Given the description of an element on the screen output the (x, y) to click on. 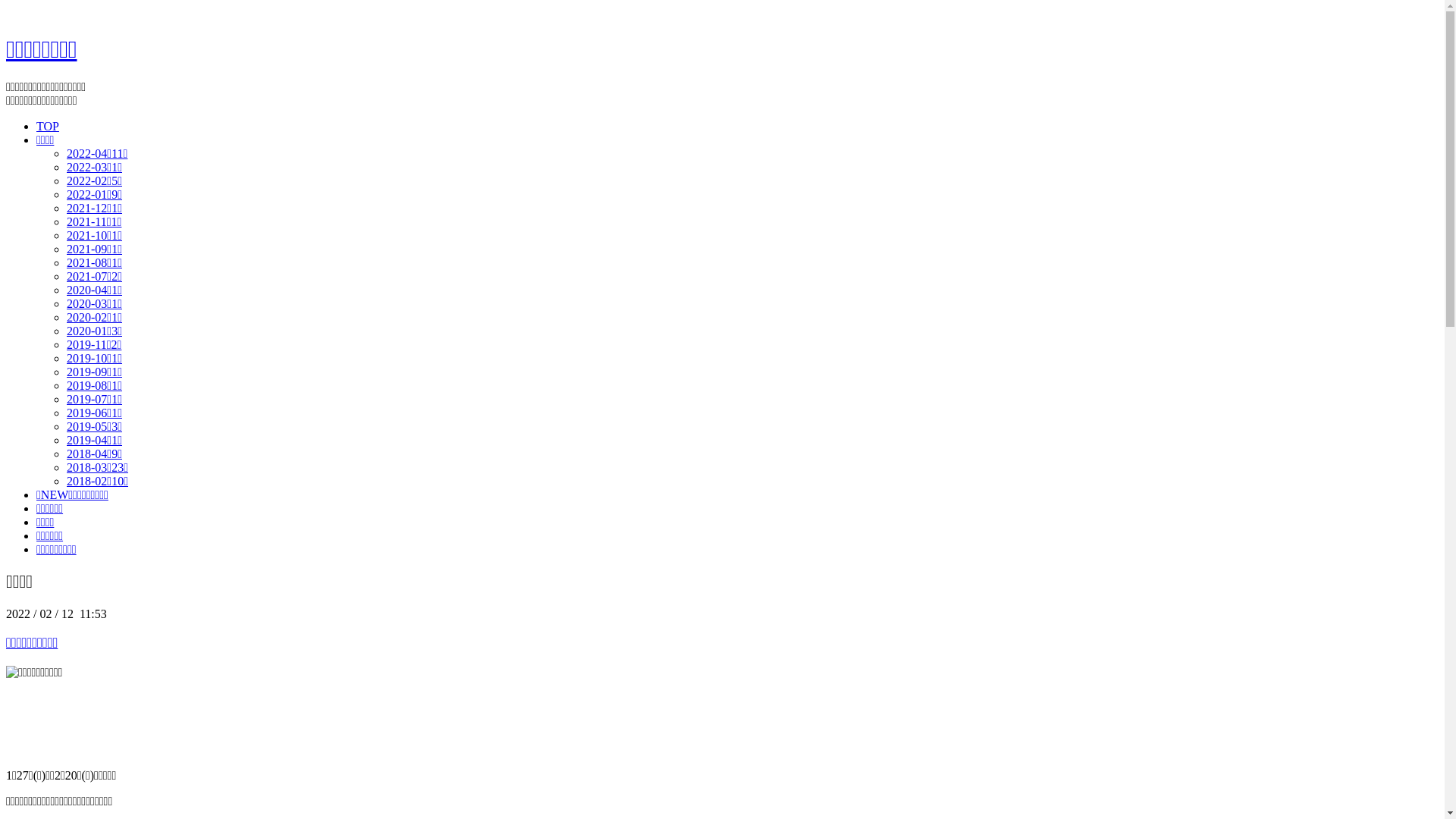
TOP Element type: text (47, 125)
